Given the description of an element on the screen output the (x, y) to click on. 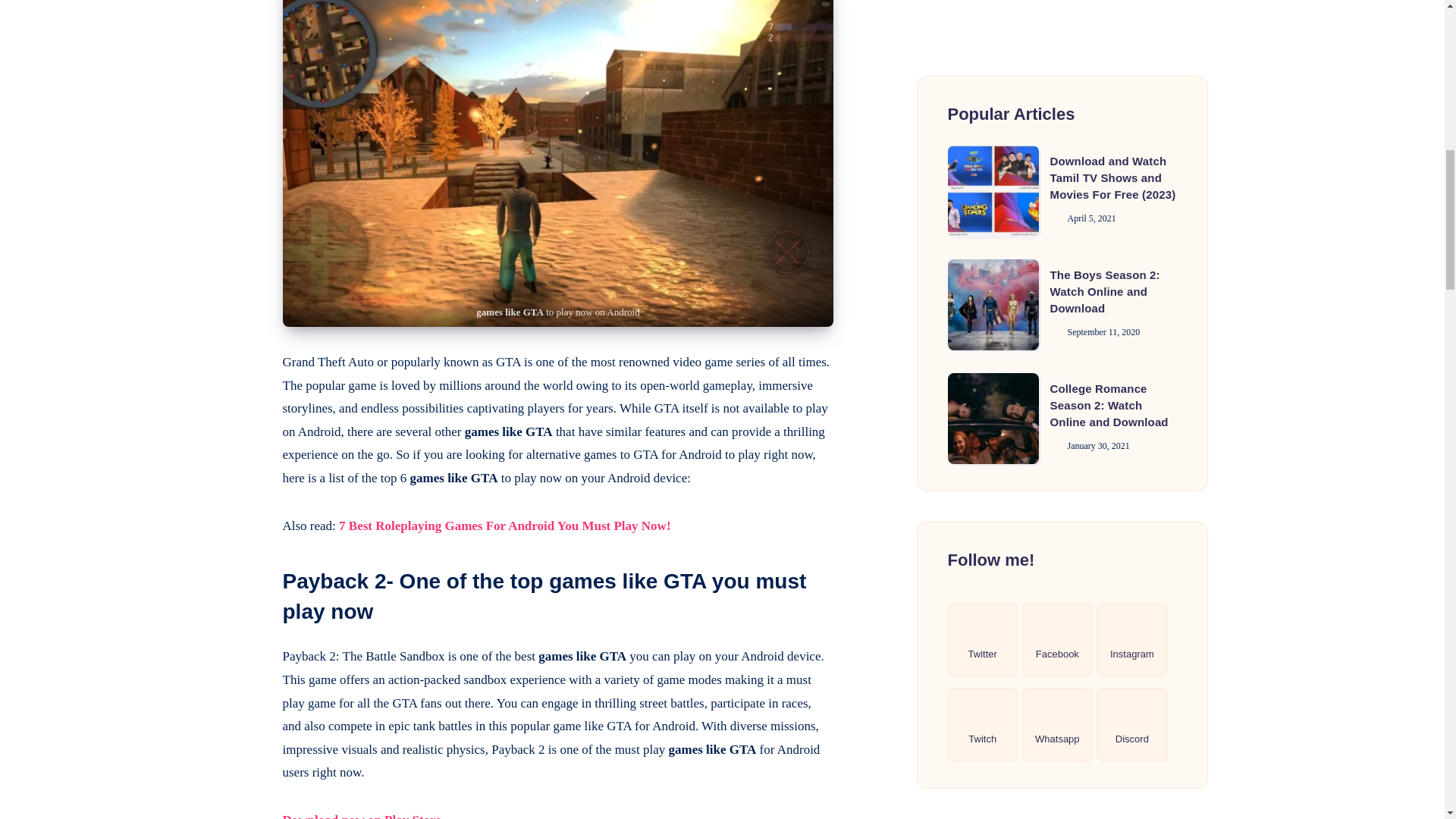
Share on Telegram (244, 25)
Share on Whatsapp (244, 60)
Download now on Play Store (361, 816)
Share on Pinterest (244, 3)
7 Best Roleplaying Games For Android You Must Play Now! (504, 525)
